Given the description of an element on the screen output the (x, y) to click on. 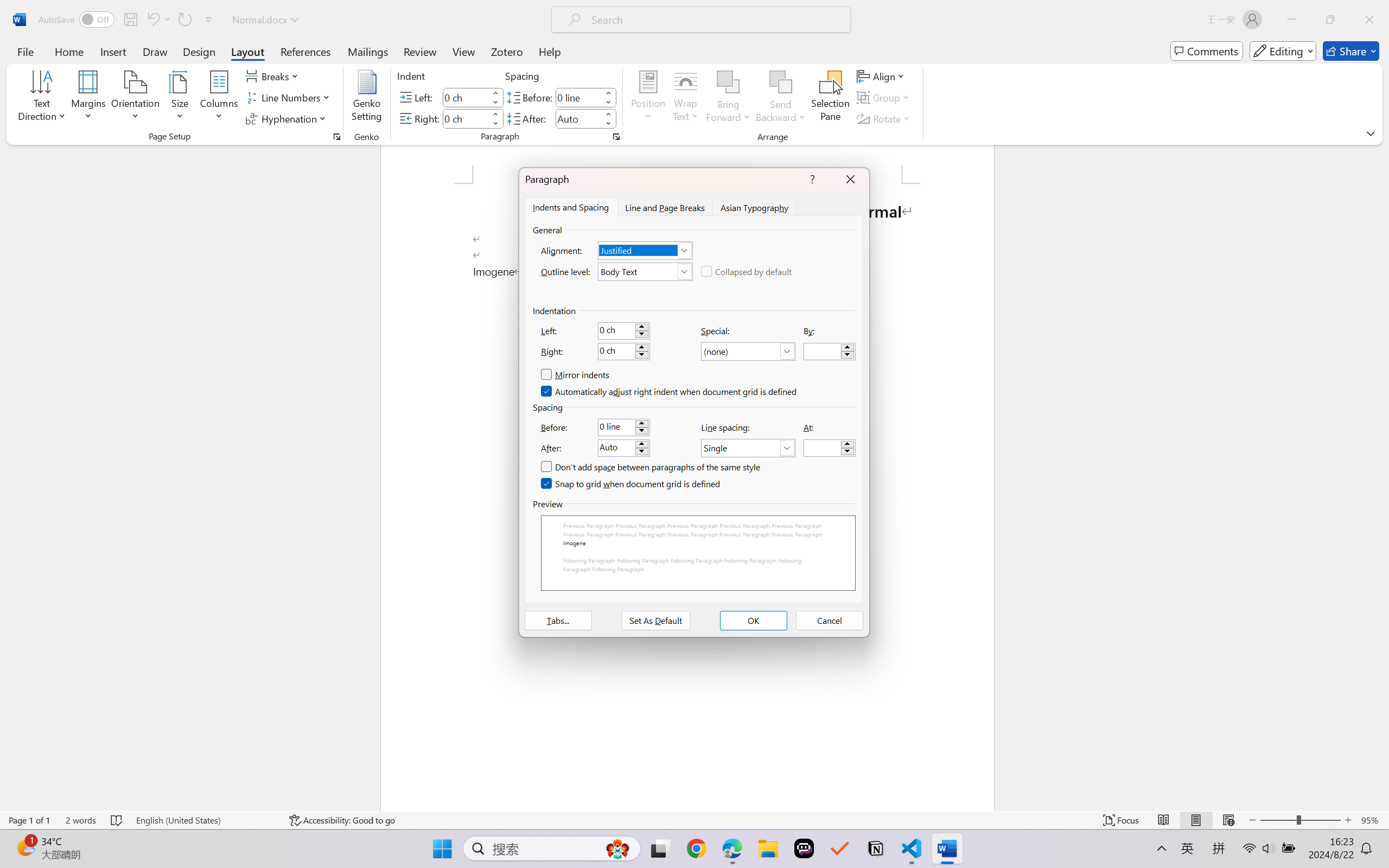
Bring Forward (728, 81)
Rotate (884, 118)
